Given the description of an element on the screen output the (x, y) to click on. 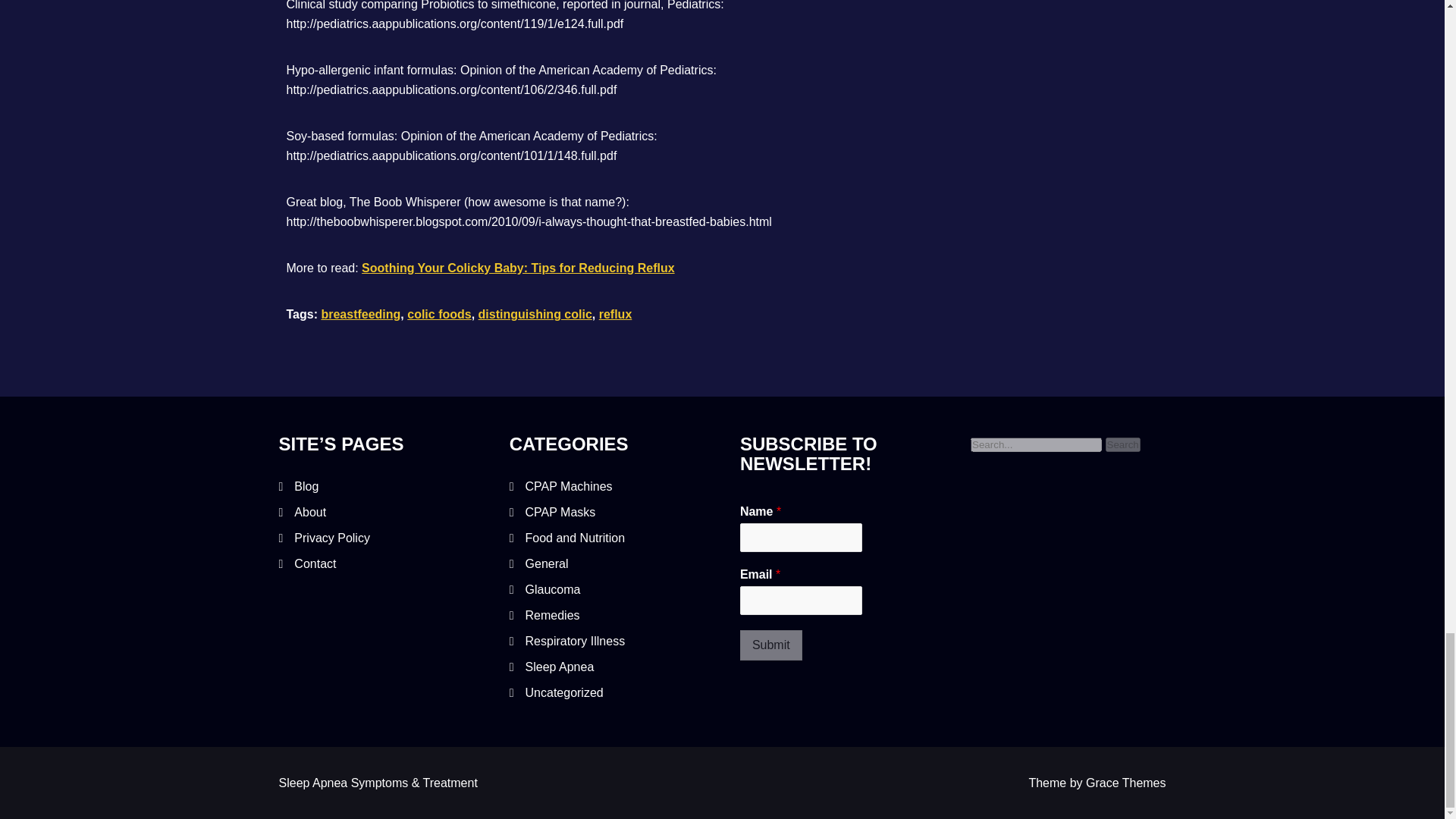
Soothing Your Colicky Baby: Tips for Reducing Reflux (517, 267)
colic foods (438, 314)
reflux (614, 314)
distinguishing colic (535, 314)
breastfeeding (360, 314)
Search (1122, 444)
Search (1122, 444)
